Given the description of an element on the screen output the (x, y) to click on. 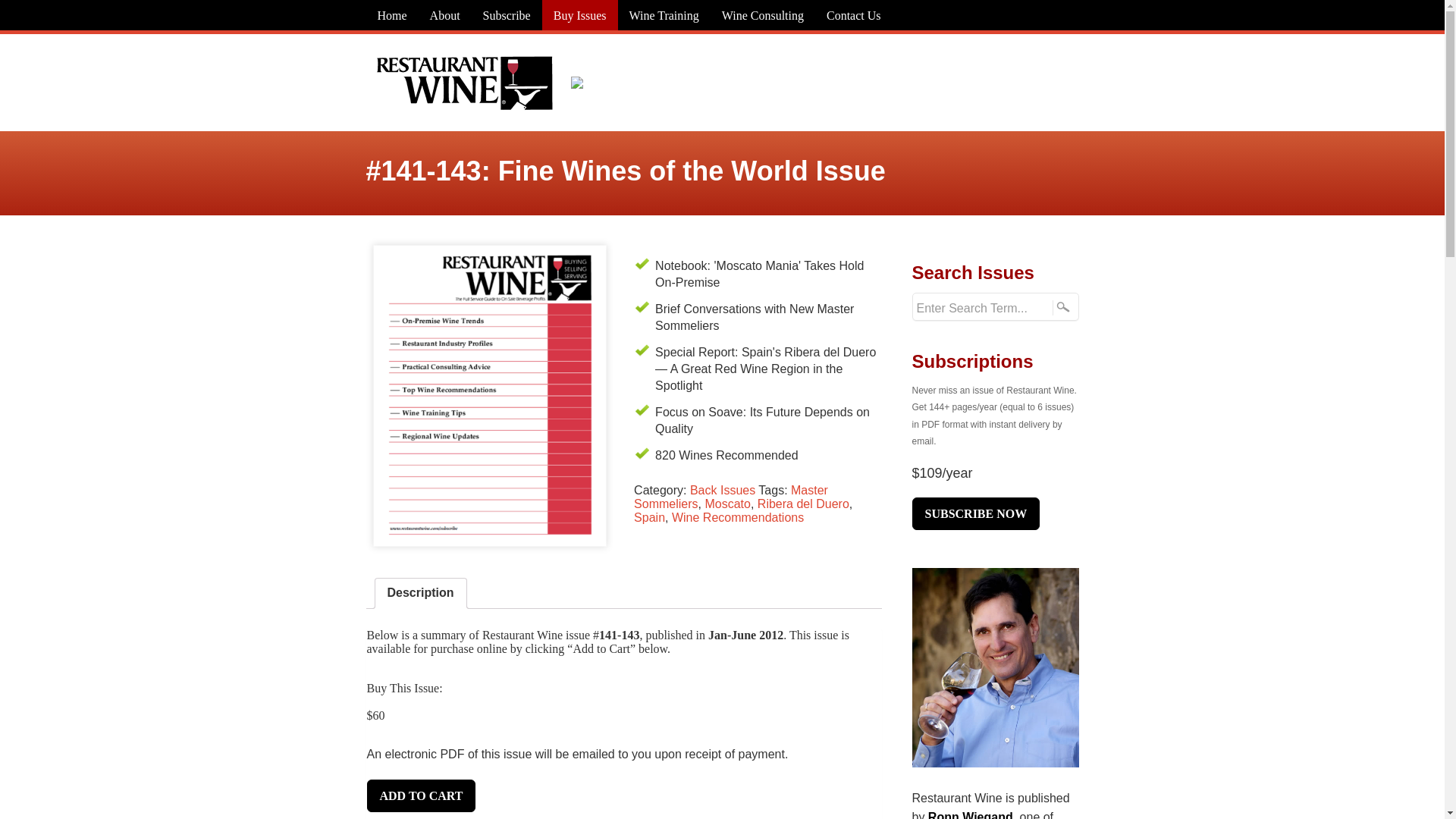
Spain (649, 517)
Add to Cart (421, 795)
Subscribe (506, 15)
Master Sommeliers (730, 497)
Home (391, 15)
Description (419, 592)
Contact Us (853, 15)
Ribera del Duero (802, 503)
Wine Consulting (762, 15)
About (445, 15)
Wine Training (663, 15)
Back Issues (722, 490)
Wine Recommendations (737, 517)
